Given the description of an element on the screen output the (x, y) to click on. 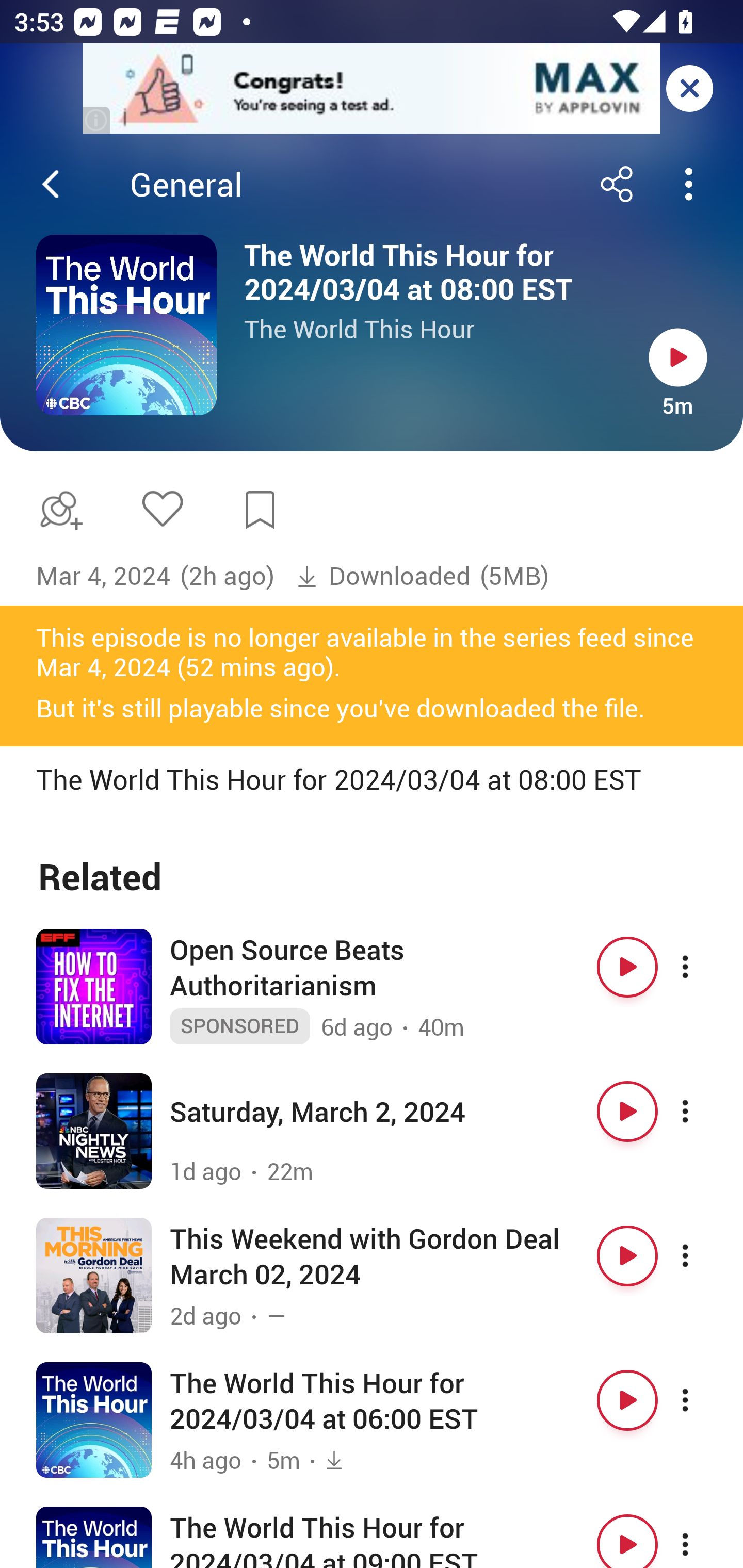
app-monetization (371, 88)
(i) (96, 119)
Back (50, 184)
Open series (126, 325)
Play button (677, 357)
Like (161, 507)
Add episode to Play Later (57, 509)
New bookmark … (259, 510)
Downloaded (383, 576)
Play button (627, 966)
More options (703, 966)
Play button (627, 1111)
More options (703, 1111)
Play button (627, 1255)
More options (703, 1255)
Play button (627, 1400)
More options (703, 1400)
Play button (627, 1536)
More options (703, 1536)
